Given the description of an element on the screen output the (x, y) to click on. 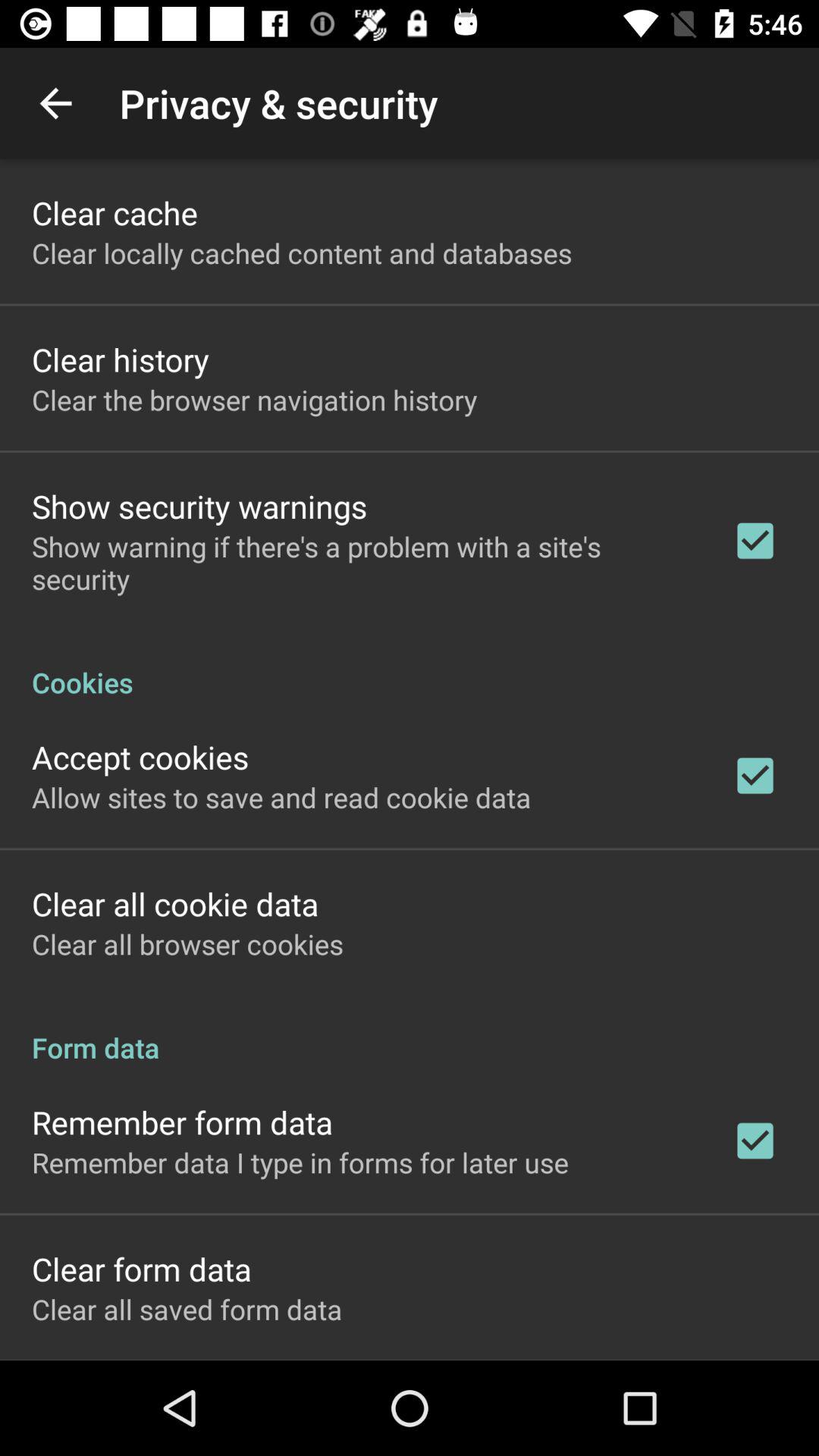
launch the accept cookies (140, 756)
